Given the description of an element on the screen output the (x, y) to click on. 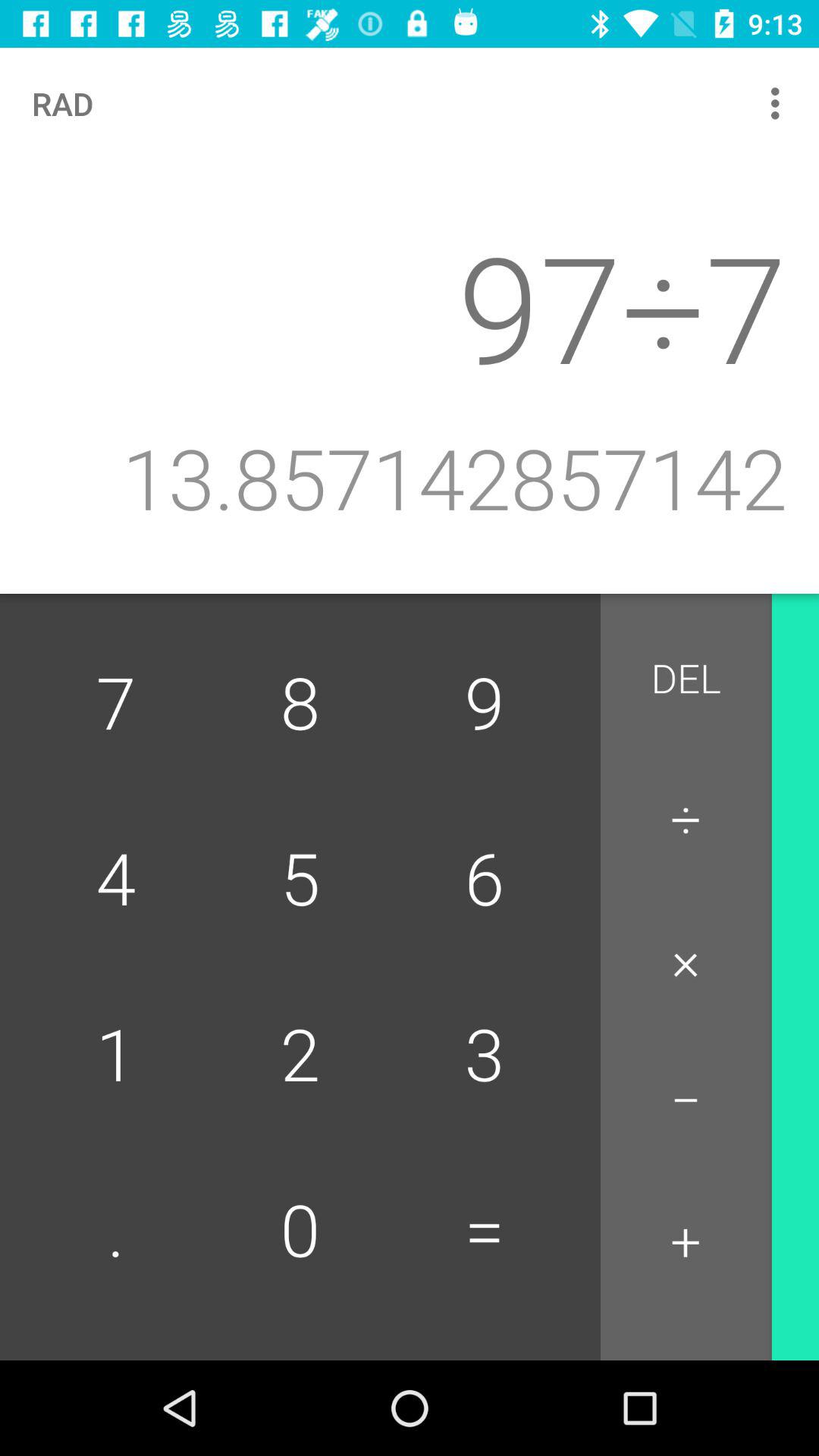
turn off the inv item (815, 687)
